Given the description of an element on the screen output the (x, y) to click on. 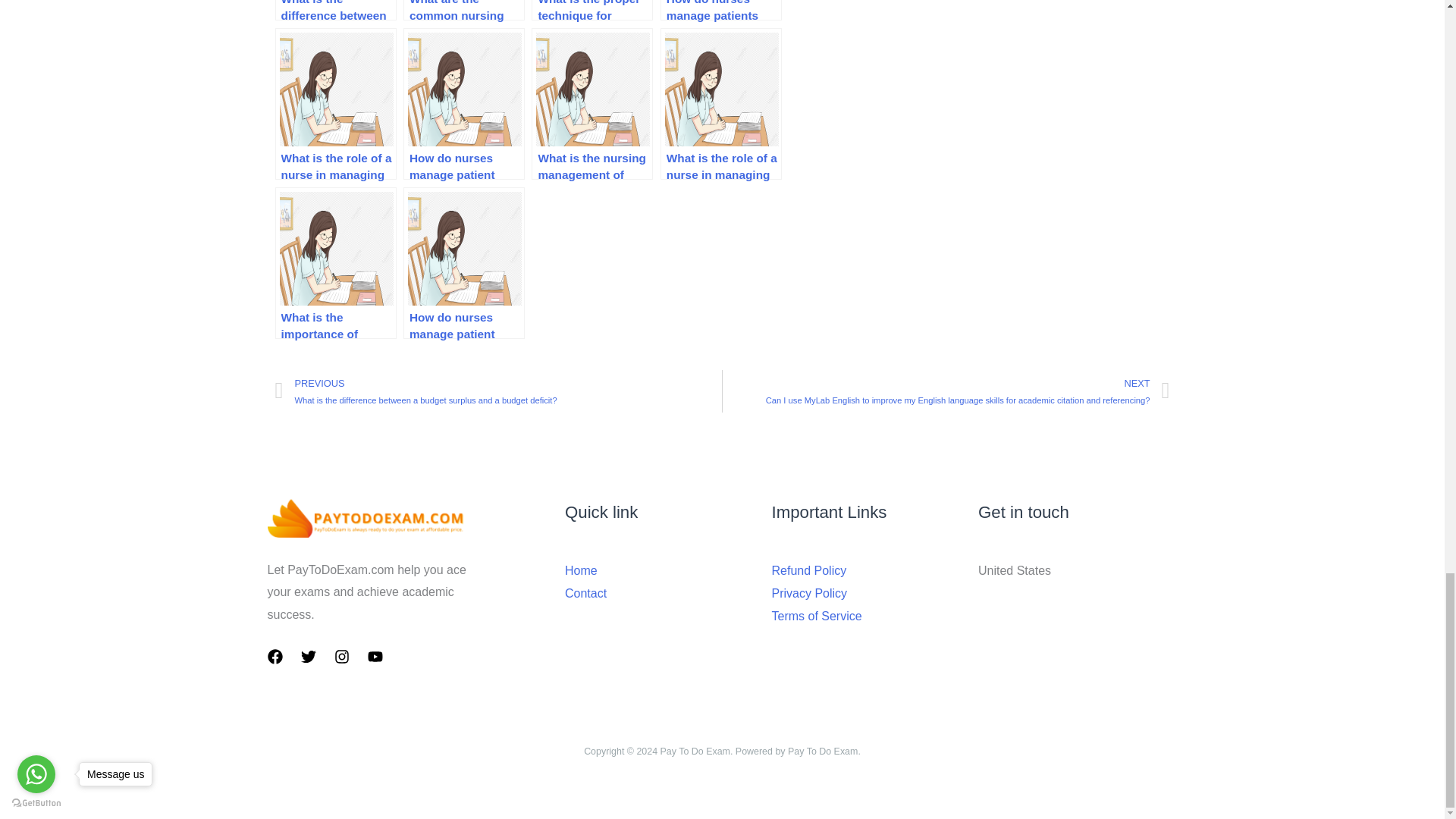
What is the difference between acute and chronic pain? (335, 10)
How do nurses manage patients with acute kidney injury? (721, 10)
